Given the description of an element on the screen output the (x, y) to click on. 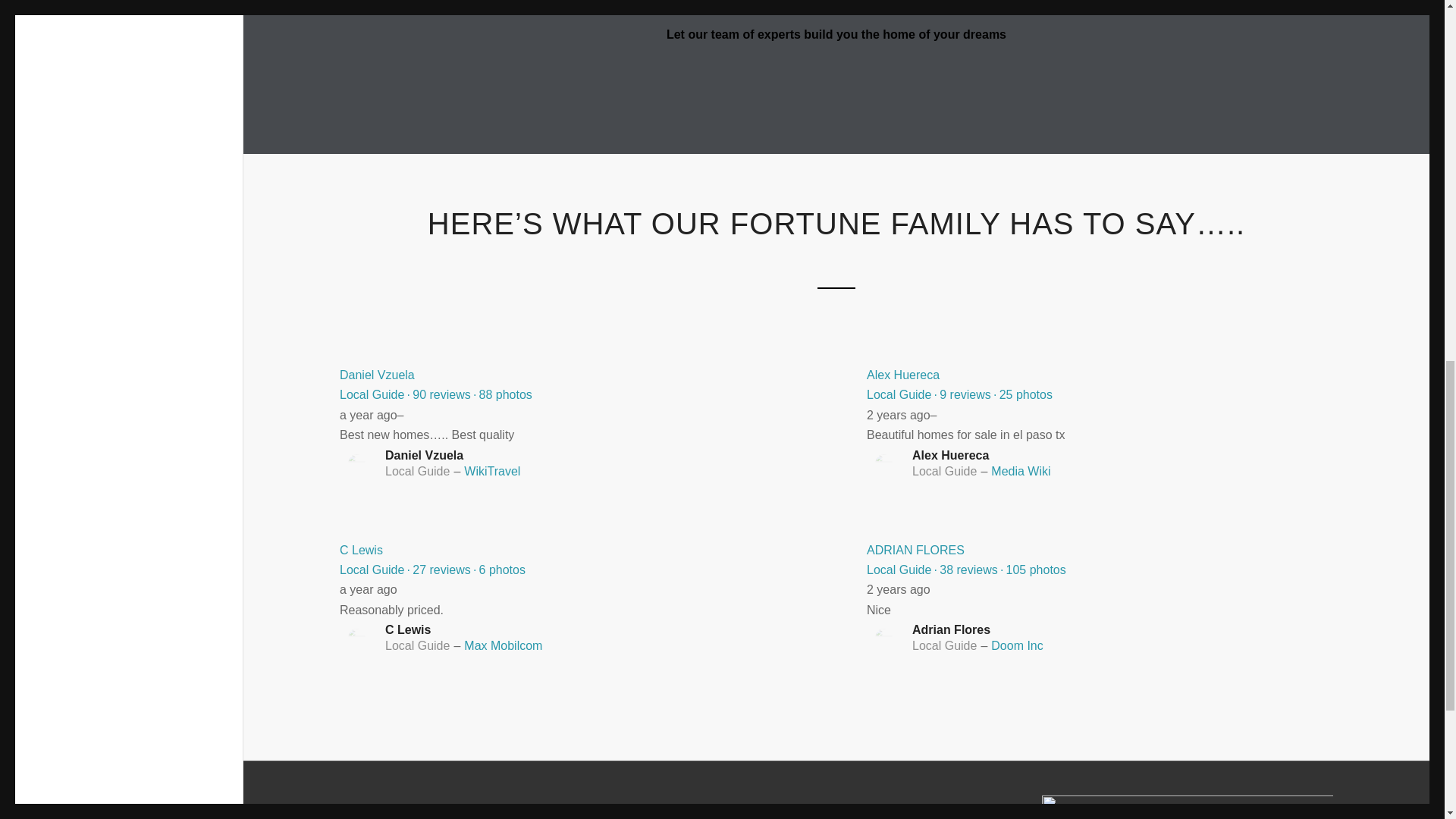
ADRIAN FLORES (914, 549)
C Lewis (360, 549)
WikiTravel (491, 471)
Daniel Vzuela (376, 374)
Media Wiki (1020, 471)
Alex Huereca (902, 374)
Max Mobilcom (502, 645)
